Given the description of an element on the screen output the (x, y) to click on. 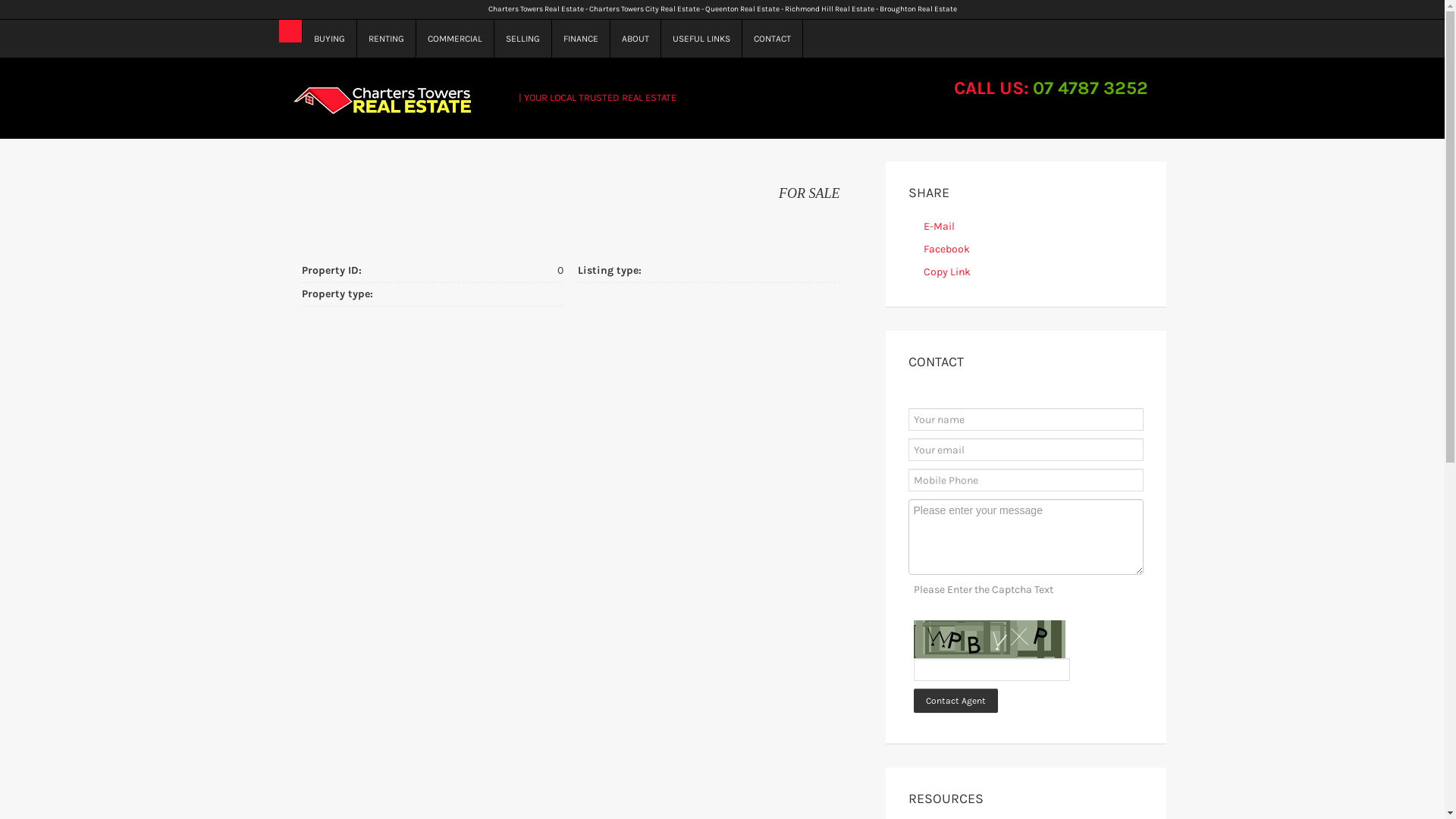
* Please provide valid phone number Element type: hover (1025, 479)
FINANCE Element type: text (581, 38)
CONTACT Element type: text (771, 38)
BUYING Element type: text (328, 38)
SELLING Element type: text (523, 38)
USEFUL LINKS Element type: text (701, 38)
Copy Link Element type: text (946, 271)
ABOUT Element type: text (634, 38)
Facebook Element type: text (946, 248)
COMMERCIAL Element type: text (454, 38)
Contact Agent Element type: text (955, 700)
RENTING Element type: text (385, 38)
07 4787 3252 Element type: text (1090, 87)
E-Mail Element type: text (938, 225)
